Given the description of an element on the screen output the (x, y) to click on. 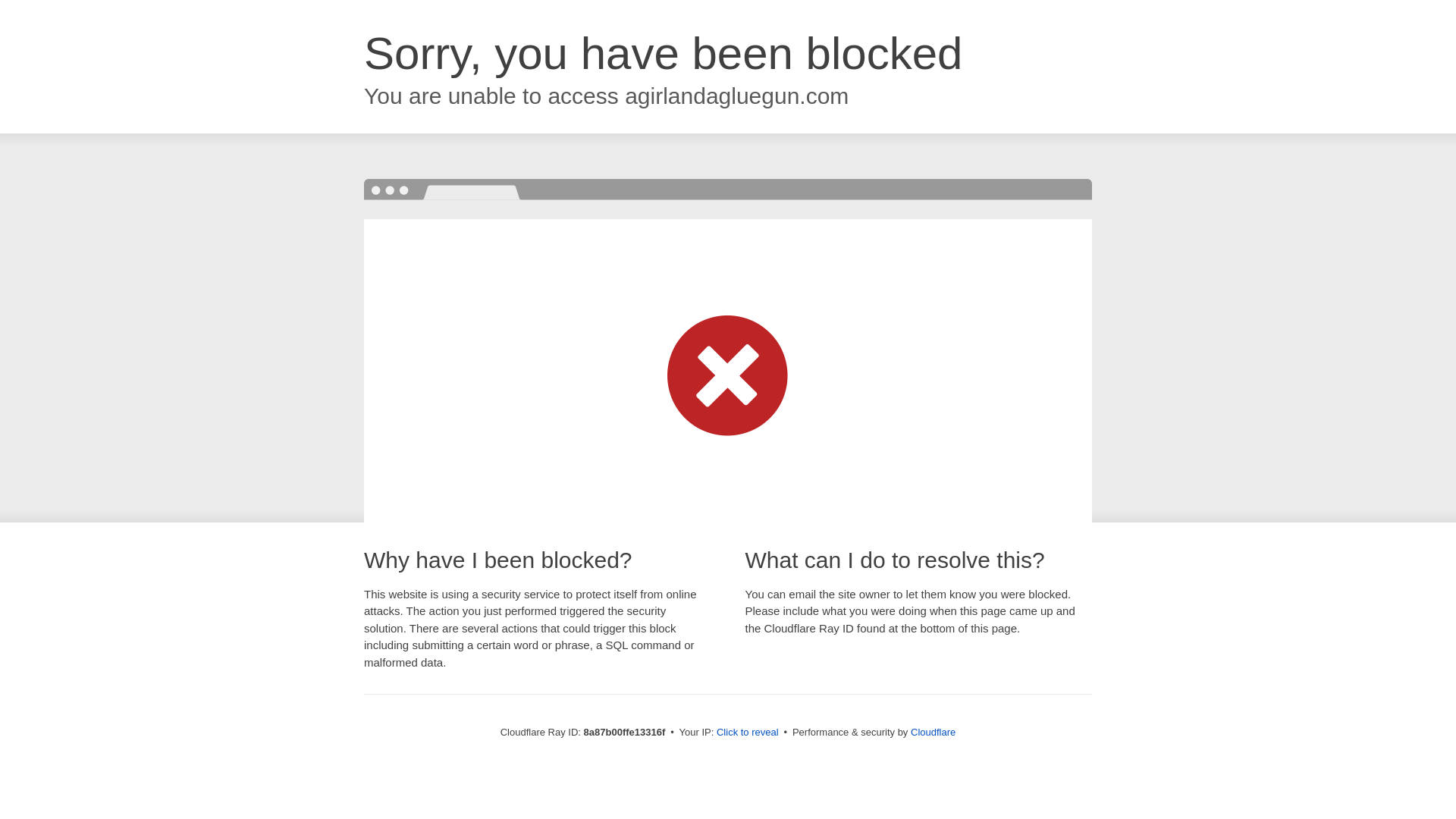
Cloudflare (933, 731)
Click to reveal (747, 732)
